Given the description of an element on the screen output the (x, y) to click on. 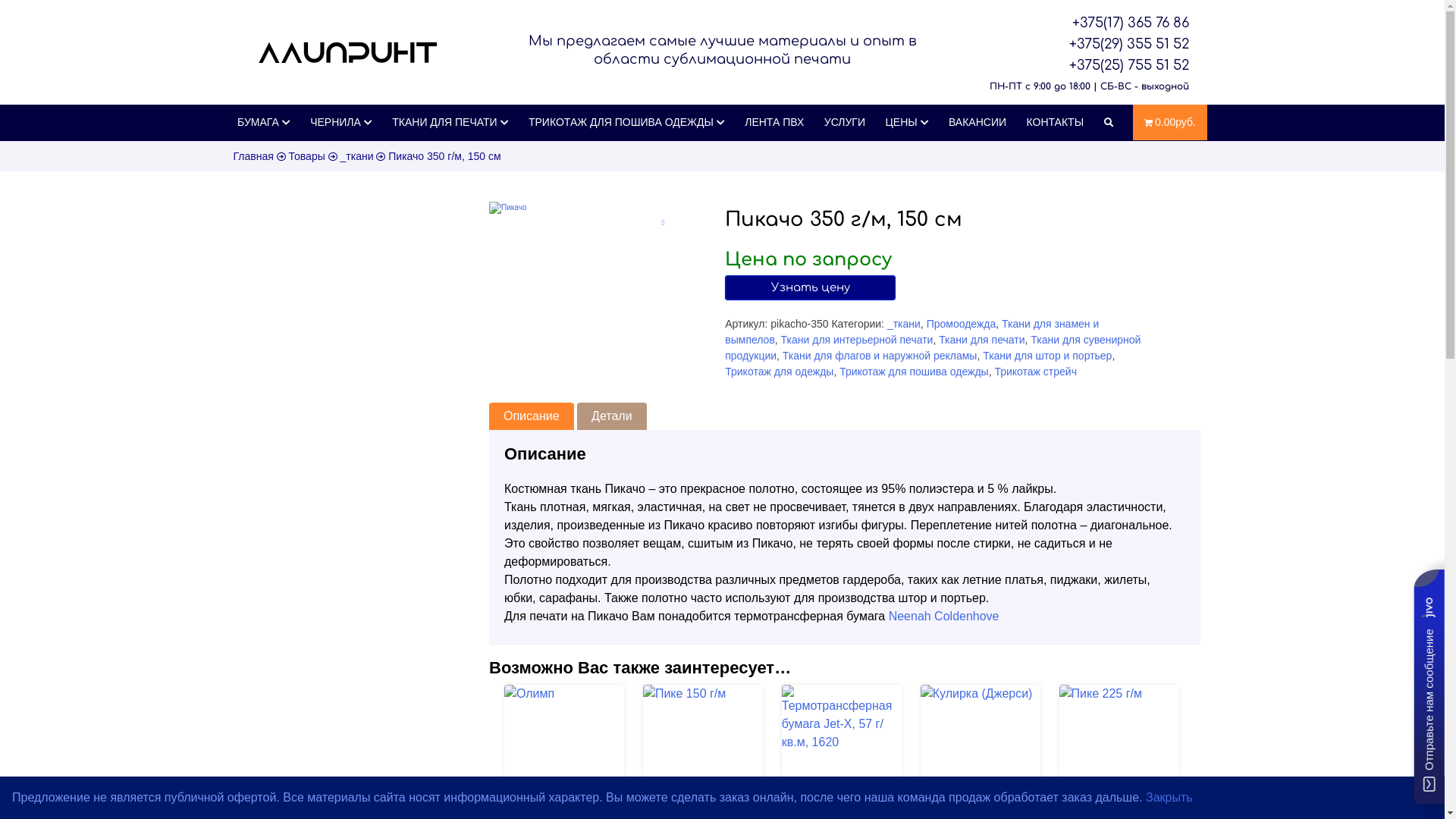
+375(29) 355 51 52 Element type: text (1080, 43)
+375(25) 755 51 52 Element type: text (1080, 64)
+375(17) 365 76 86 Element type: text (1080, 22)
Neenah Coldenhove Element type: text (943, 615)
